Given the description of an element on the screen output the (x, y) to click on. 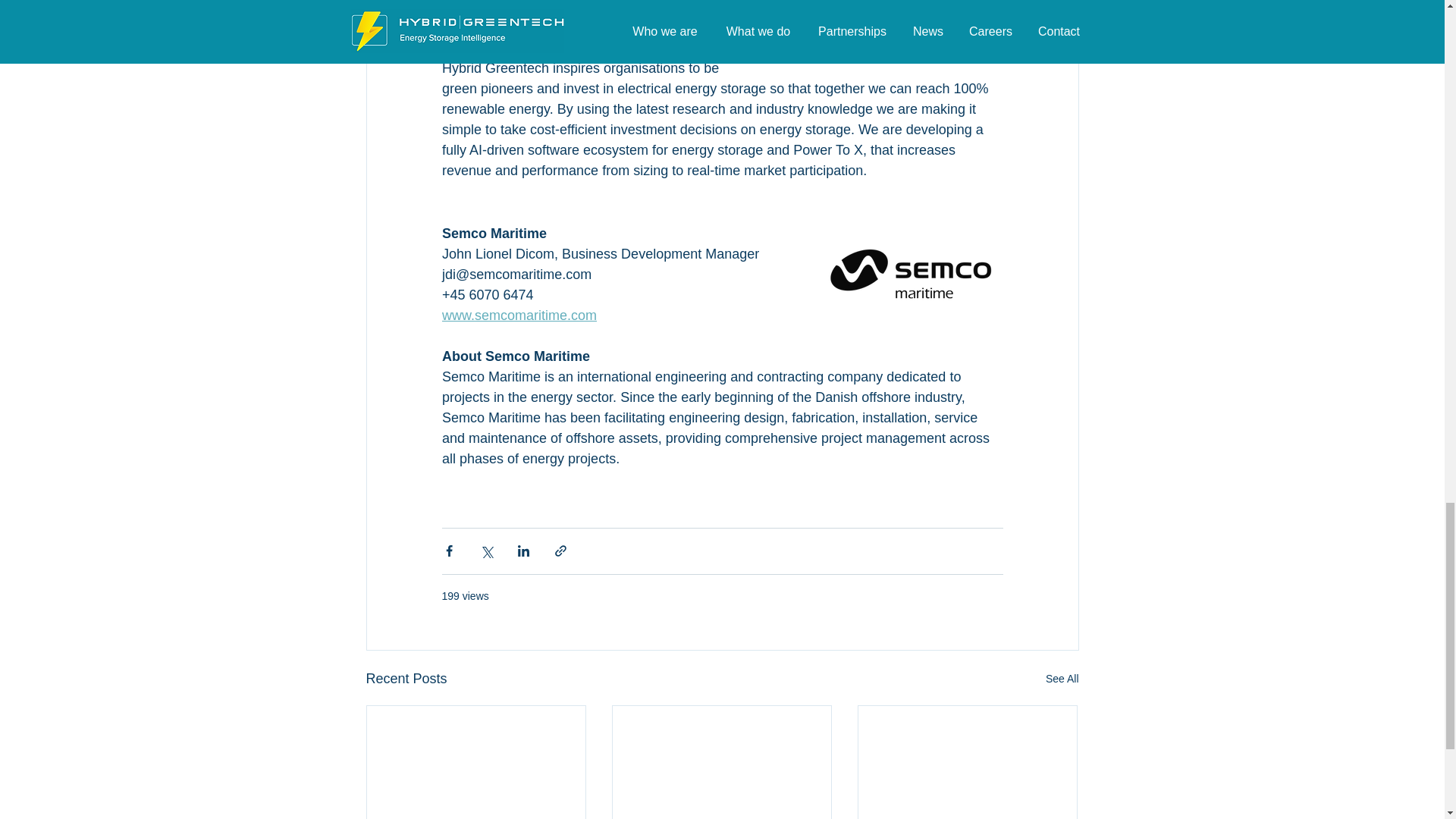
www.hybridgreentech.com (521, 7)
See All (1061, 679)
www.semcomaritime.com (518, 314)
